Given the description of an element on the screen output the (x, y) to click on. 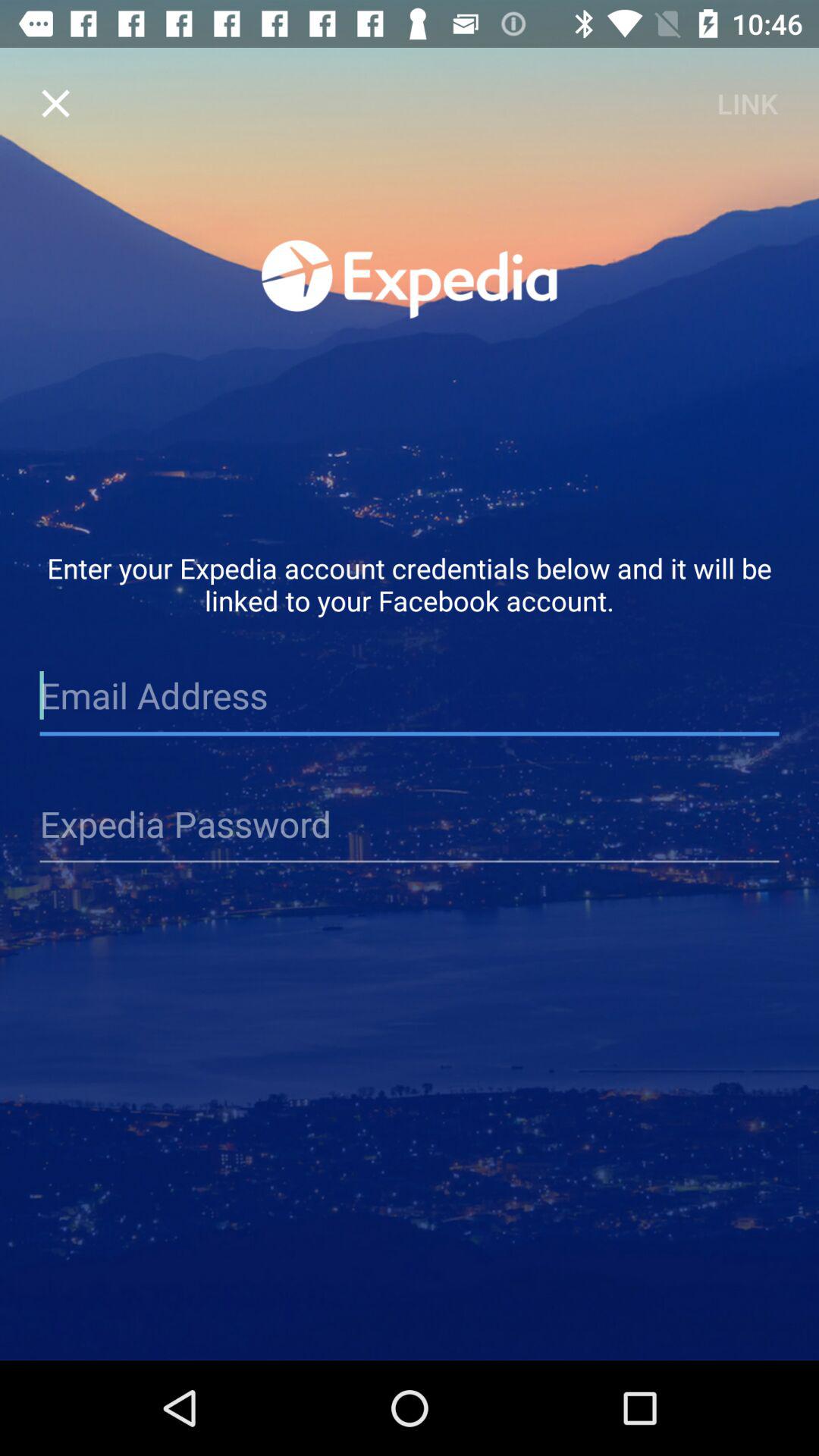
click icon next to link item (55, 103)
